Given the description of an element on the screen output the (x, y) to click on. 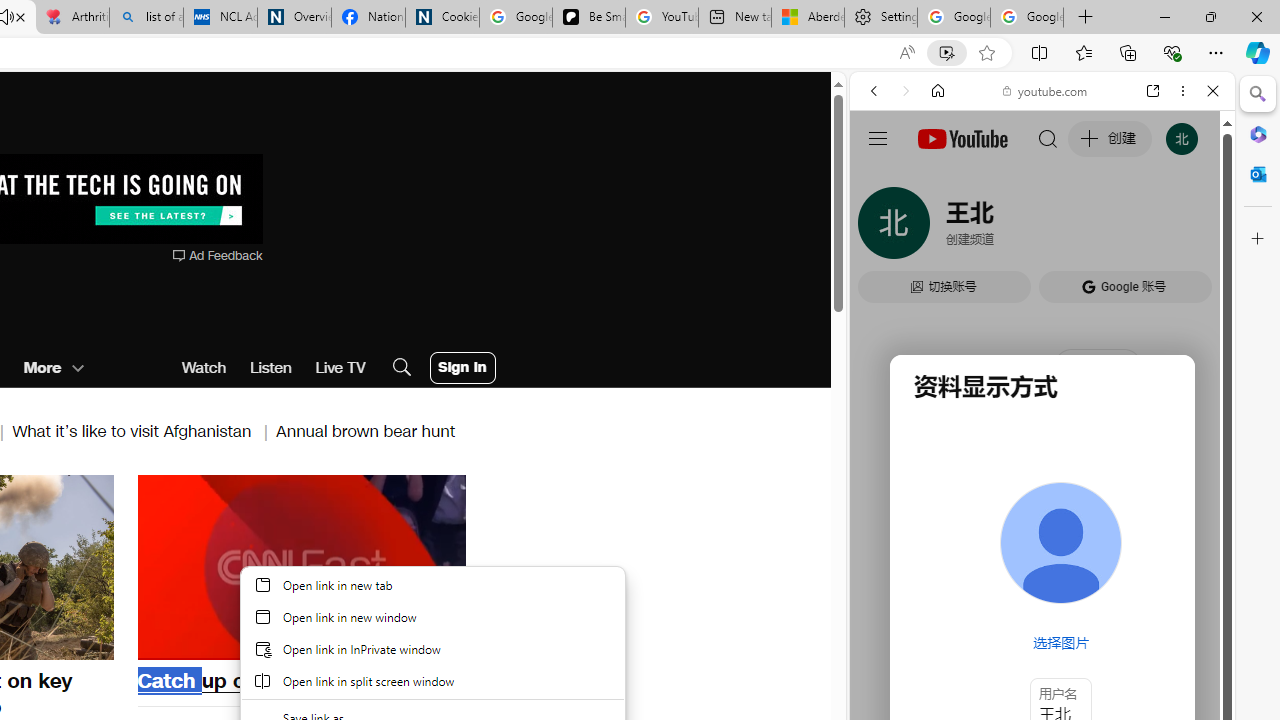
Search Filter, VIDEOS (1006, 228)
Open link in new window (432, 616)
Search the web (1051, 137)
NCL Adult Asthma Inhaler Choice Guideline (220, 17)
#you (1042, 445)
list of asthma inhalers uk - Search (146, 17)
Open link in InPrivate window (432, 648)
Enhance video (946, 53)
